Given the description of an element on the screen output the (x, y) to click on. 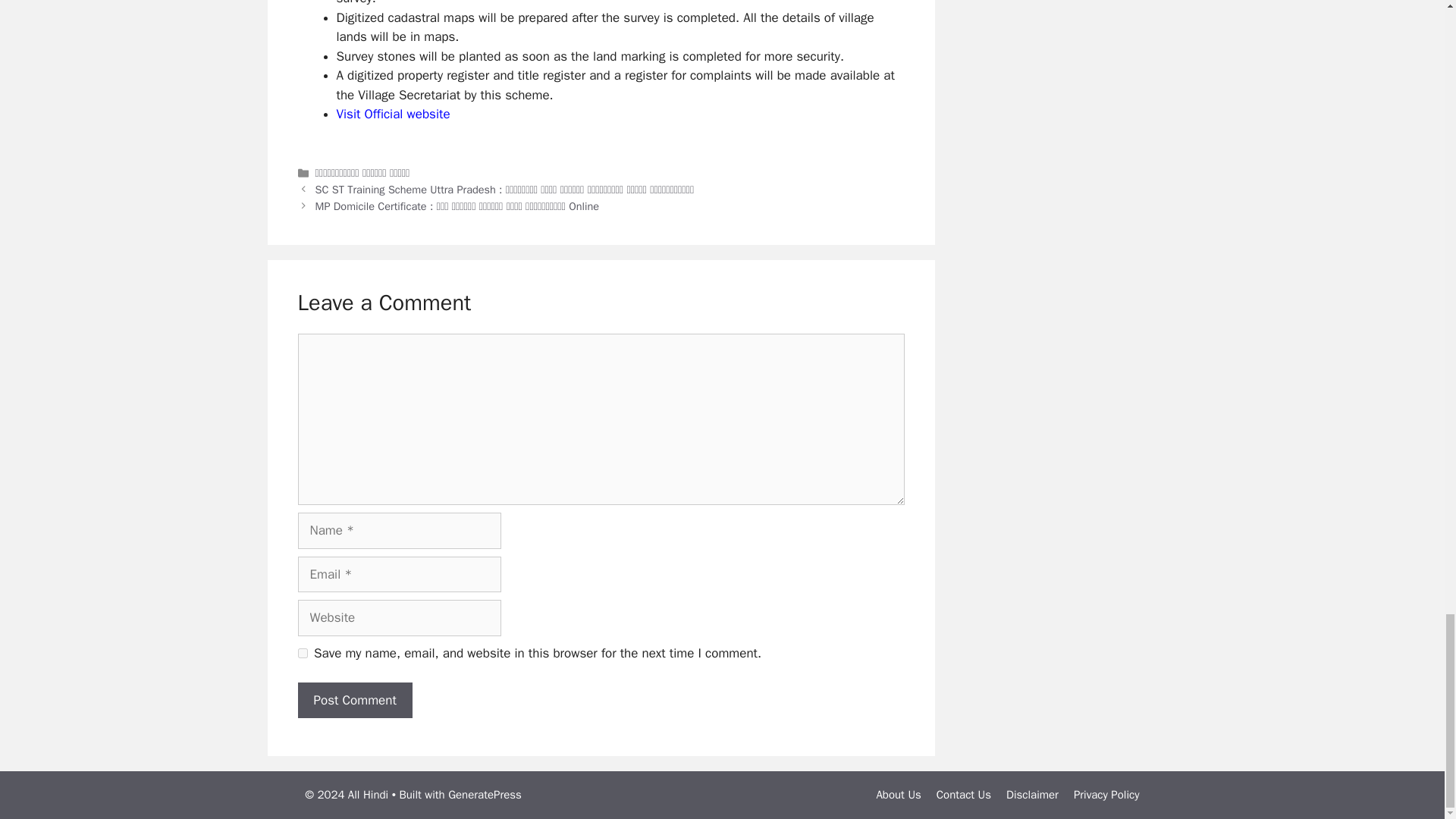
yes (302, 653)
Post Comment (354, 700)
Post Comment (354, 700)
Visit Official website (392, 114)
